Given the description of an element on the screen output the (x, y) to click on. 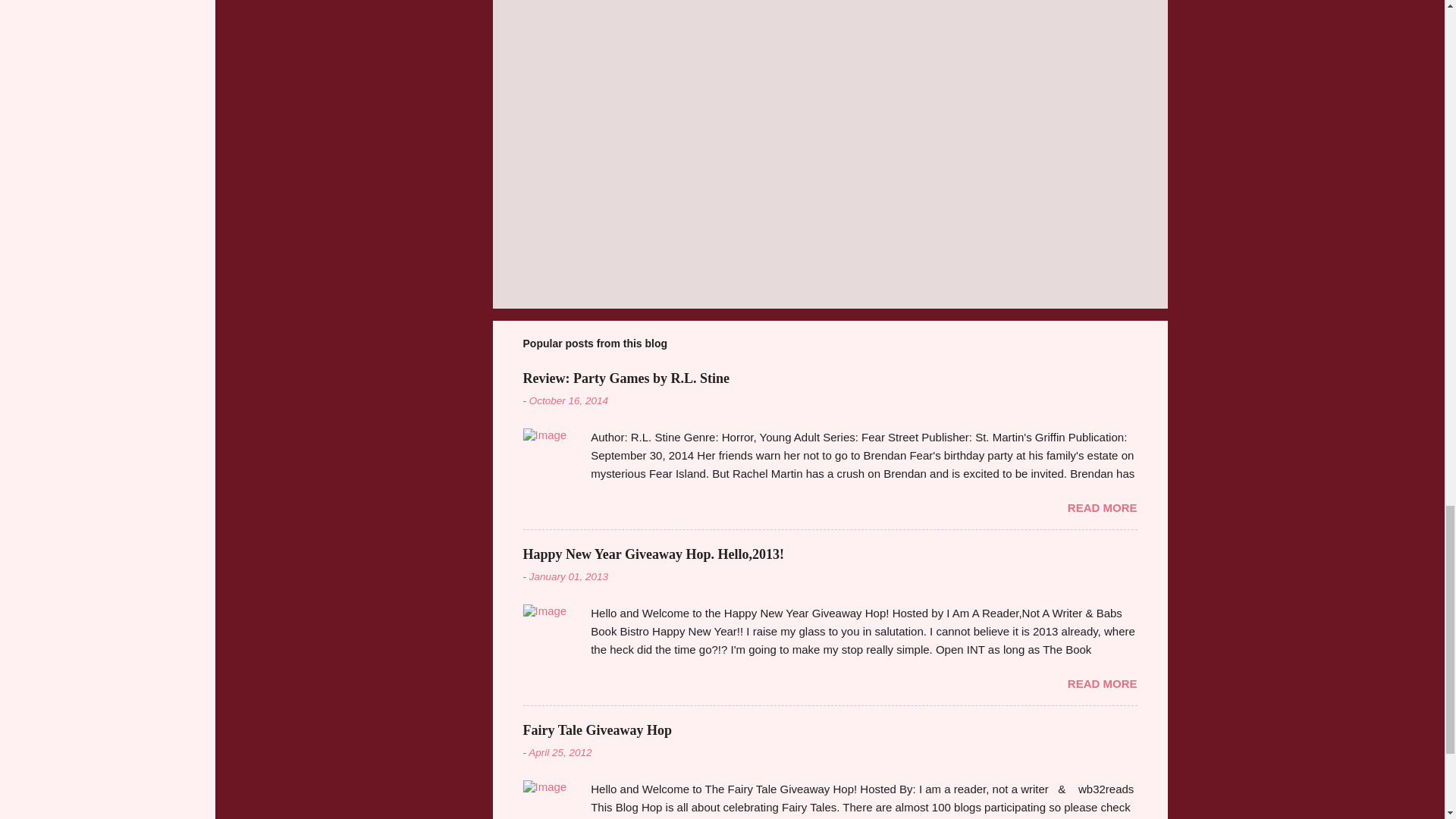
permanent link (568, 400)
April 25, 2012 (559, 752)
READ MORE (1102, 683)
January 01, 2013 (568, 576)
Fairy Tale Giveaway Hop (597, 729)
Happy New Year Giveaway Hop. Hello,2013! (653, 554)
Review: Party Games by R.L. Stine (625, 378)
October 16, 2014 (568, 400)
READ MORE (1102, 507)
